Given the description of an element on the screen output the (x, y) to click on. 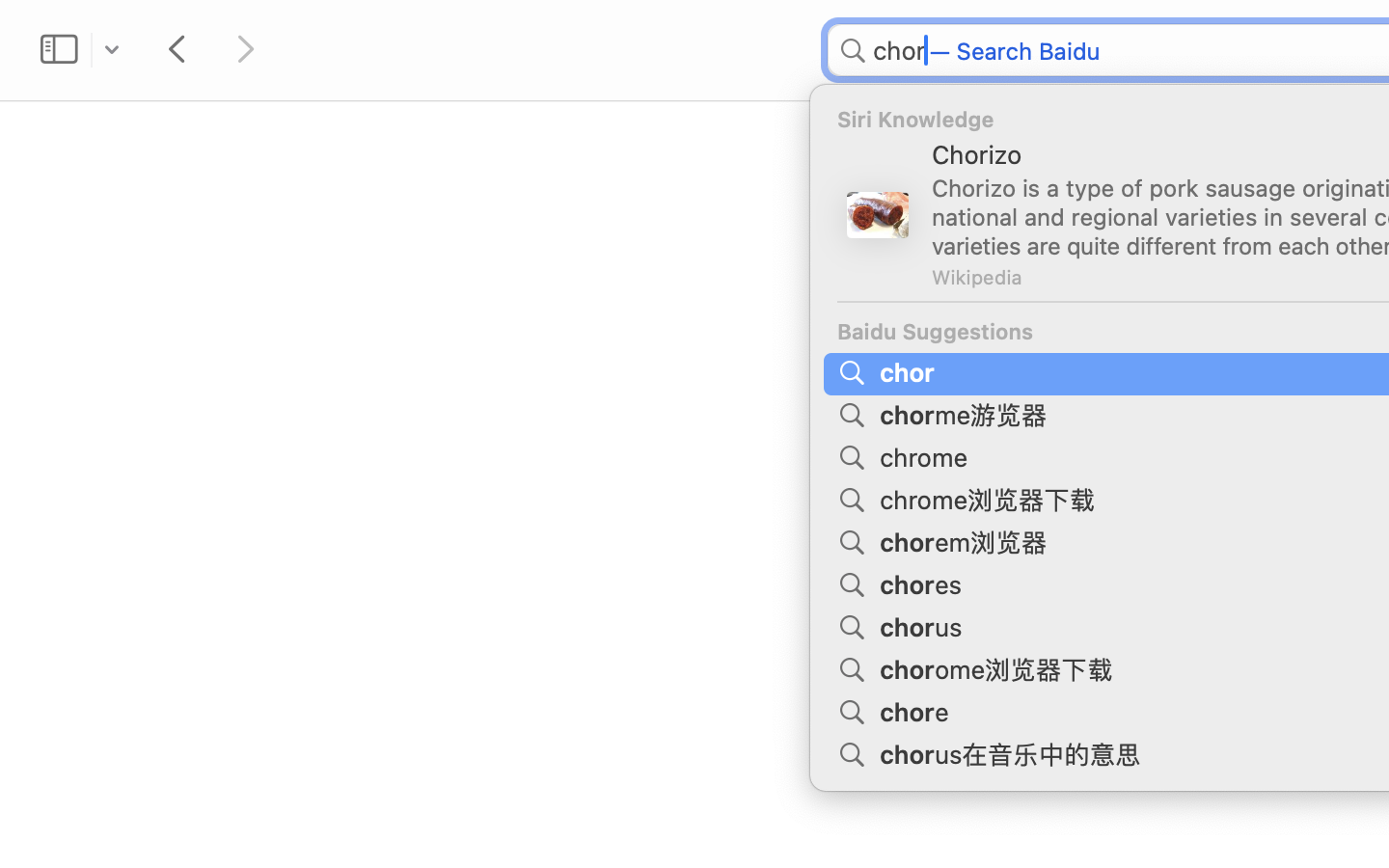
chorem浏览器 Element type: AXStaticText (966, 539)
